Given the description of an element on the screen output the (x, y) to click on. 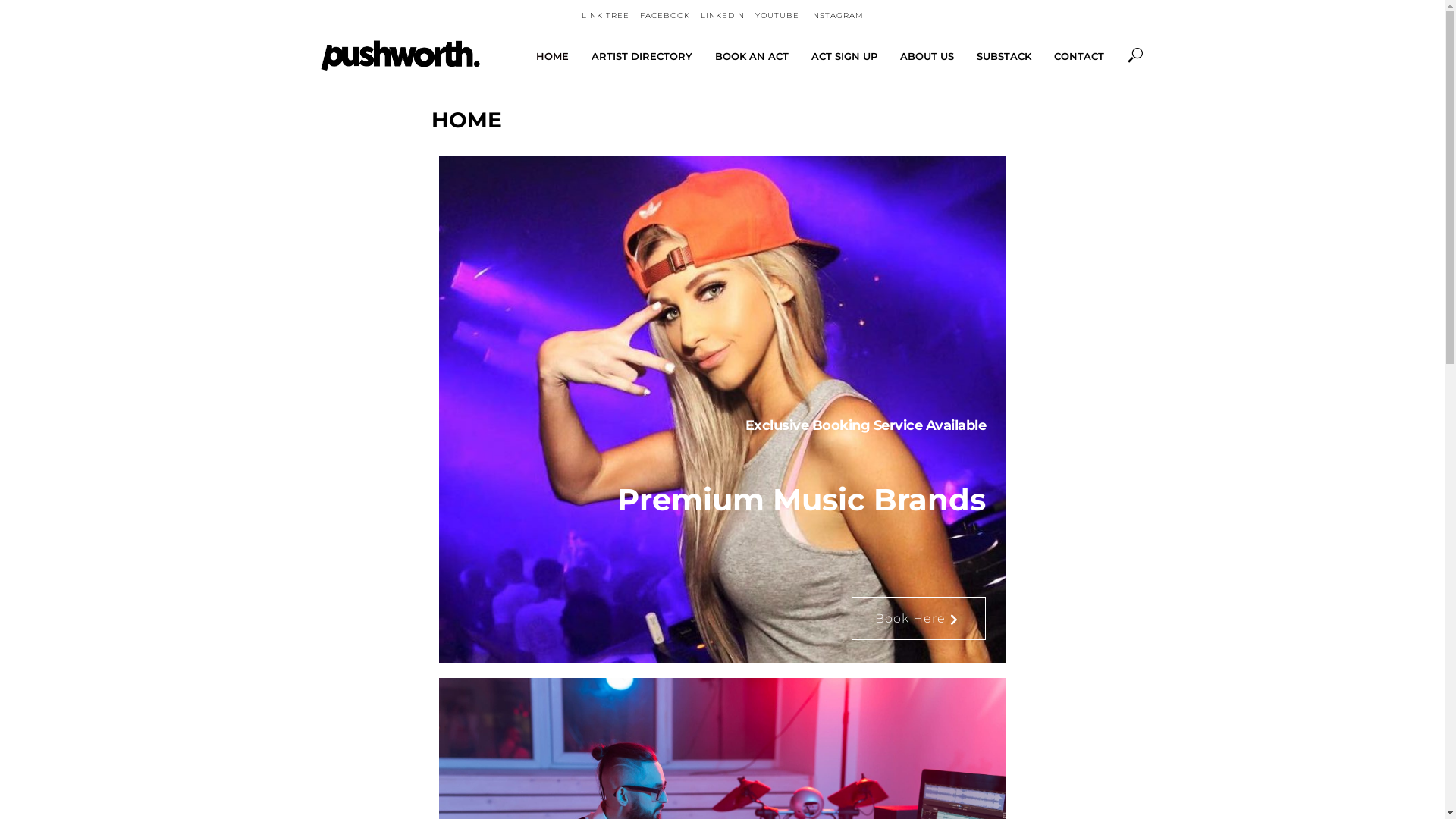
ARTIST DIRECTORY Element type: text (640, 55)
INSTAGRAM Element type: text (836, 15)
CONTACT Element type: text (1077, 55)
Book Here Element type: text (917, 618)
BOOK AN ACT Element type: text (751, 55)
LINK TREE Element type: text (604, 15)
ABOUT US Element type: text (926, 55)
SUBSTACK Element type: text (1002, 55)
ACT SIGN UP Element type: text (843, 55)
LINKEDIN Element type: text (722, 15)
FACEBOOK Element type: text (665, 15)
Premium Music Brands Element type: text (722, 499)
HOME Element type: text (552, 55)
YOUTUBE Element type: text (777, 15)
